Given the description of an element on the screen output the (x, y) to click on. 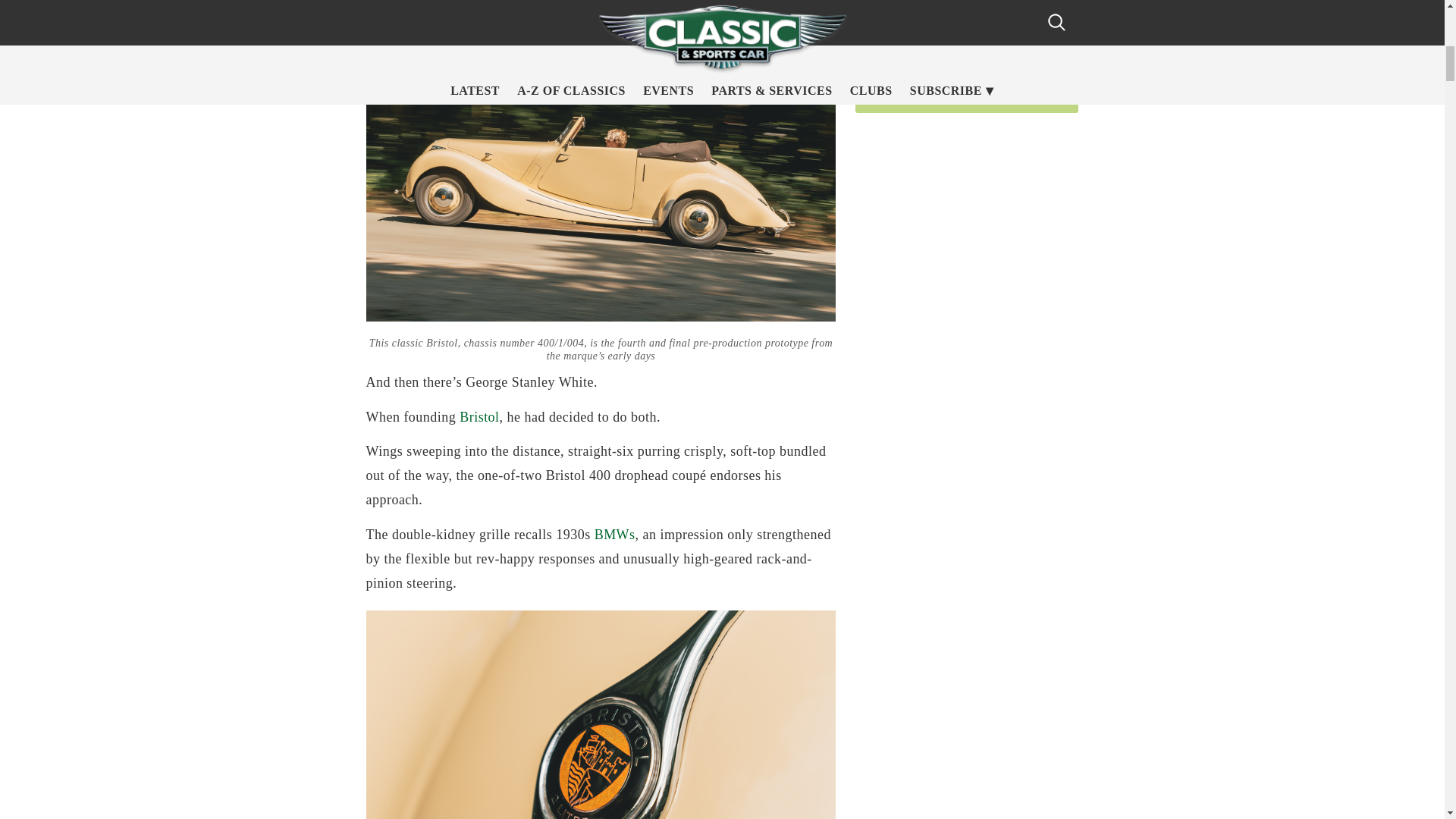
Bristol (479, 417)
All latest stories (967, 97)
Features (958, 48)
Bristol classic cars were influenced by early BMW designs (600, 714)
BMWs (614, 534)
